Given the description of an element on the screen output the (x, y) to click on. 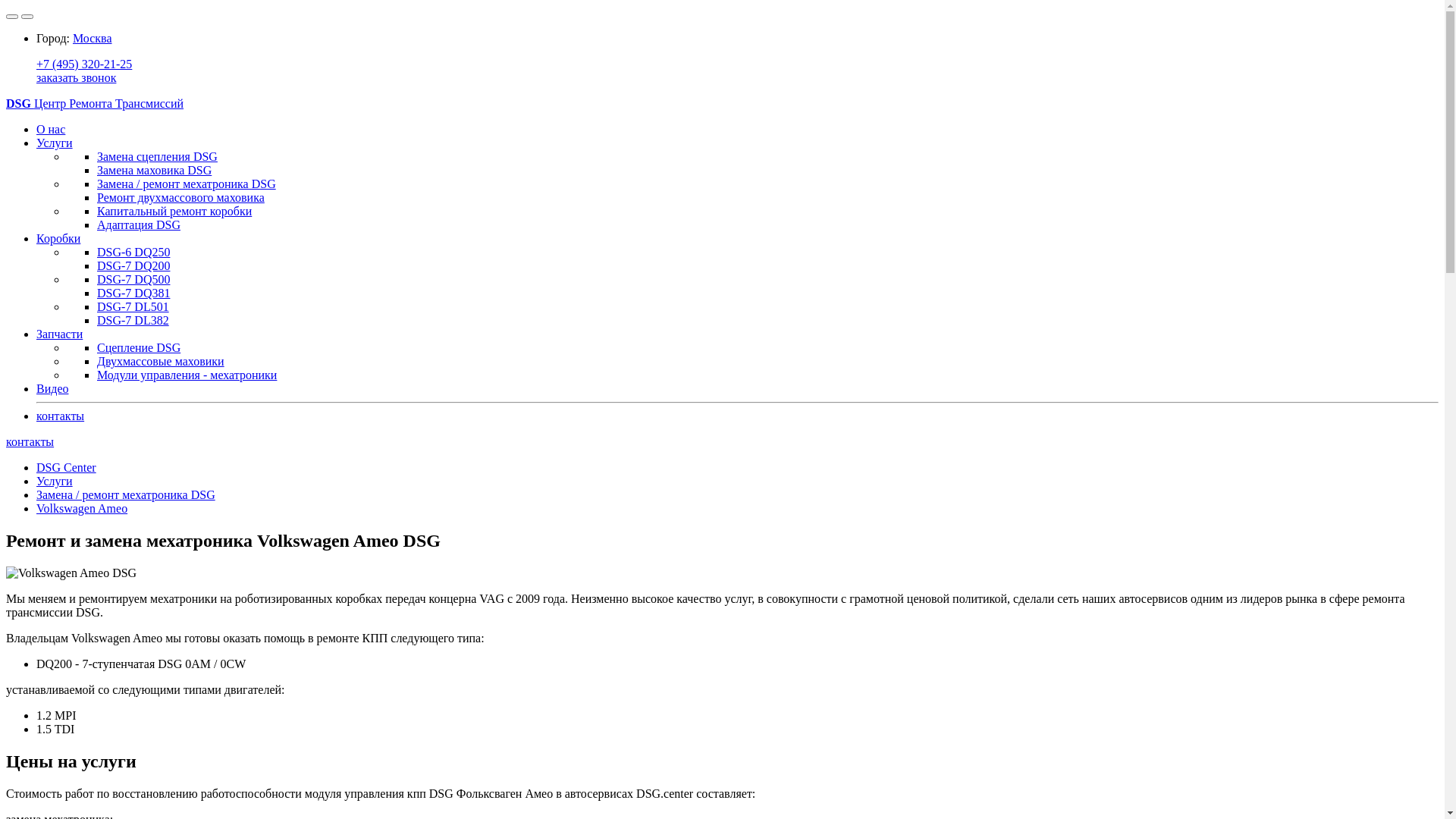
DSG Center Element type: text (66, 467)
DSG-6 DQ250 Element type: text (133, 251)
Volkswagen Ameo Element type: text (81, 508)
DSG-7 DL501 Element type: text (133, 306)
DSG-7 DQ381 Element type: text (133, 292)
DSG-7 DQ200 Element type: text (133, 265)
DSG-7 DL382 Element type: text (133, 319)
DSG-7 DQ500 Element type: text (133, 279)
+7 (495) 320-21-25 Element type: text (83, 63)
